Given the description of an element on the screen output the (x, y) to click on. 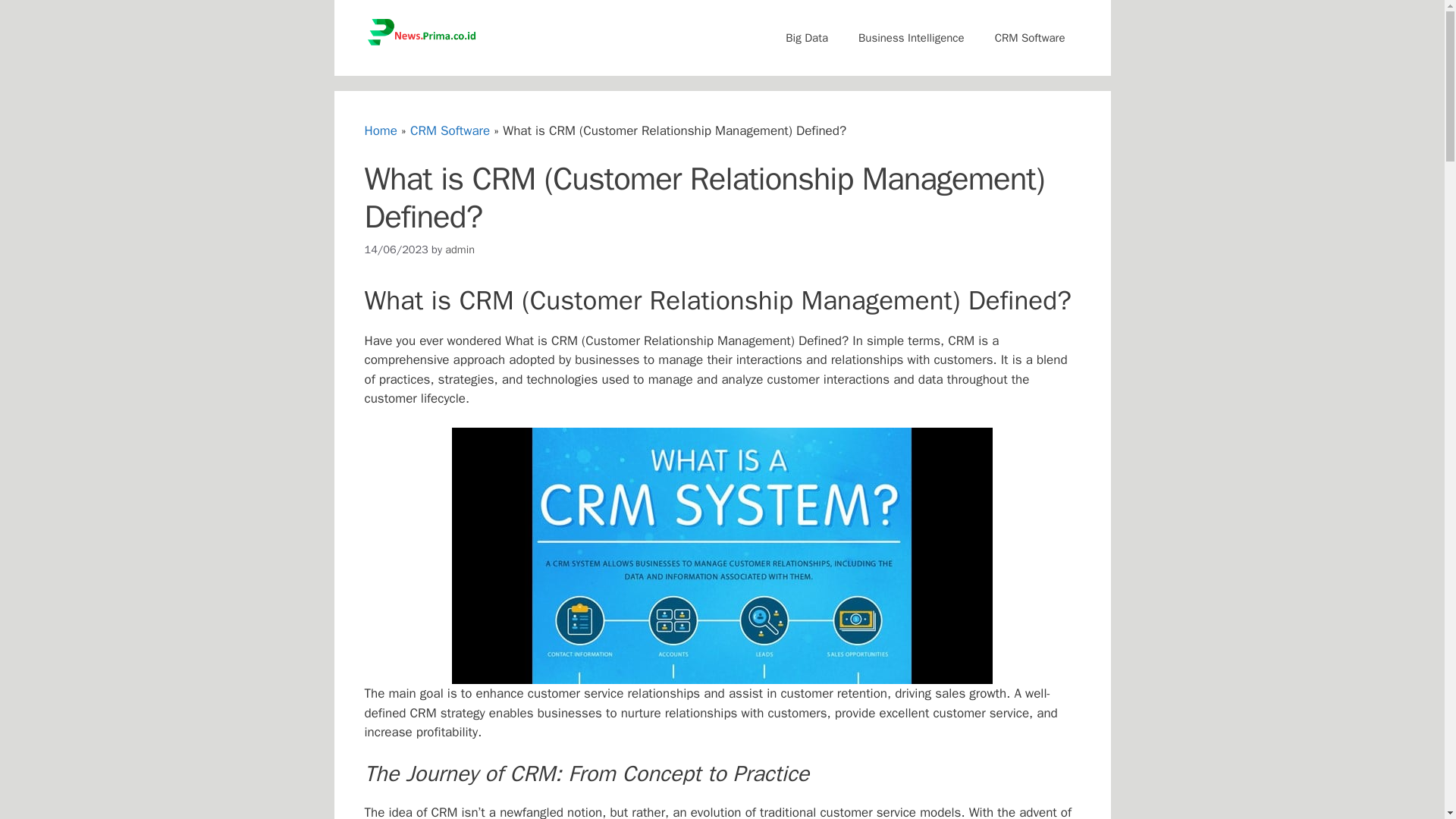
CRM Software (449, 130)
admin (459, 249)
CRM Software (1029, 37)
Home (380, 130)
View all posts by admin (459, 249)
Big Data (806, 37)
Business Intelligence (911, 37)
